Given the description of an element on the screen output the (x, y) to click on. 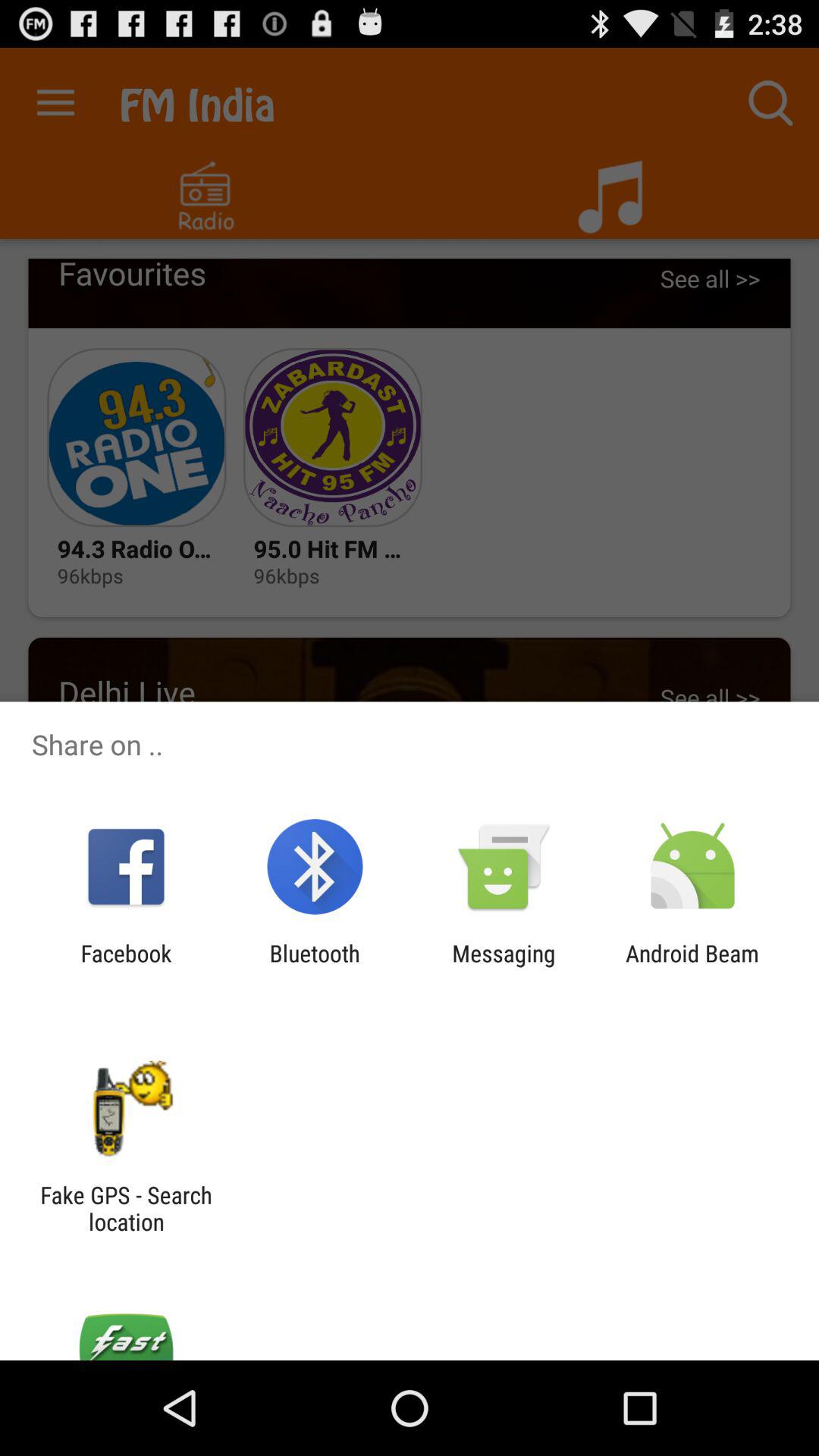
tap android beam (692, 966)
